Given the description of an element on the screen output the (x, y) to click on. 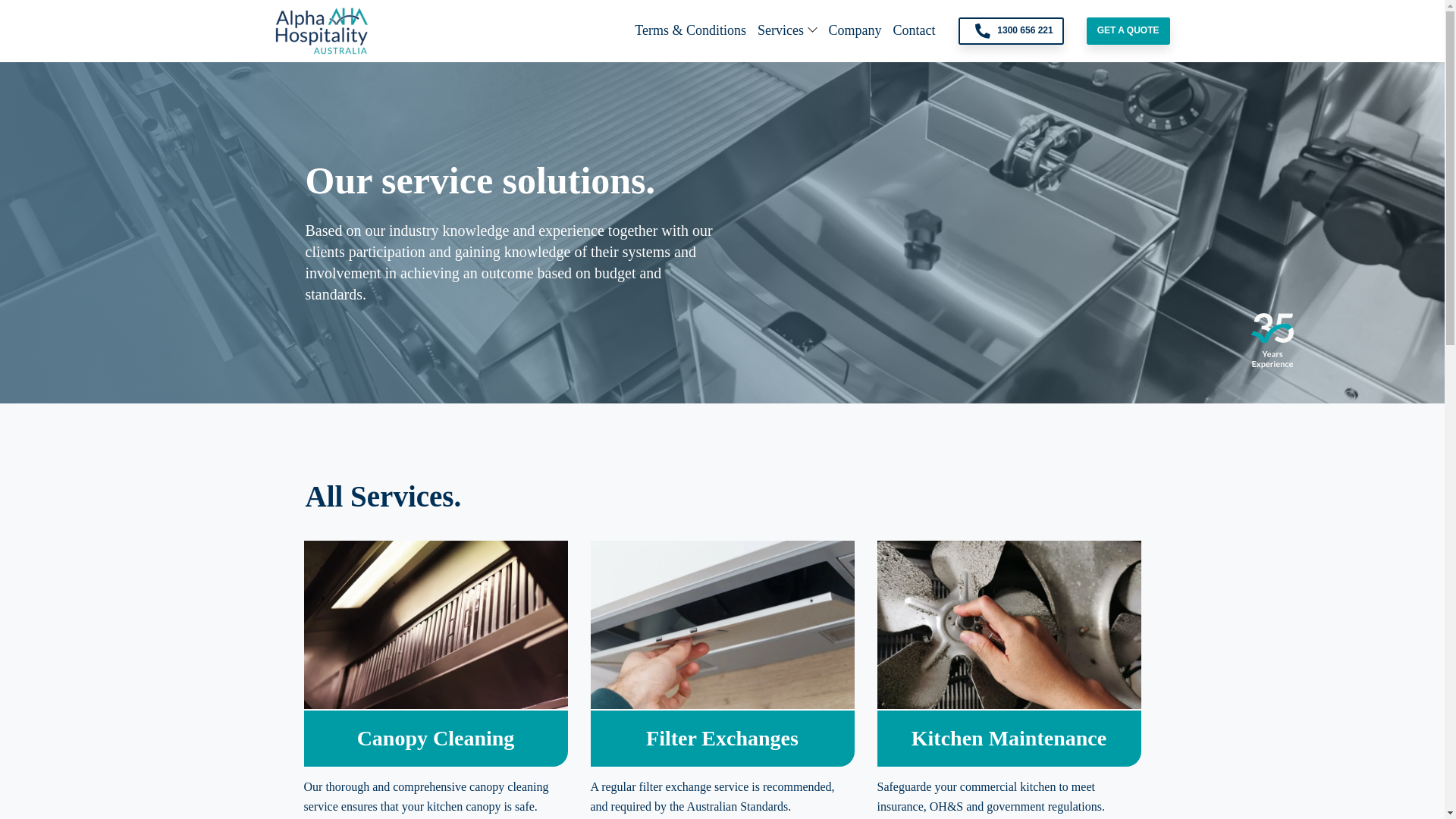
Filter Exchanges (721, 738)
Canopy Cleaning (435, 738)
Services (780, 29)
GET A QUOTE (1128, 31)
Kitchen Maintenance (1008, 738)
Company (855, 29)
1300 656 221 (1011, 31)
Contact (914, 29)
